Given the description of an element on the screen output the (x, y) to click on. 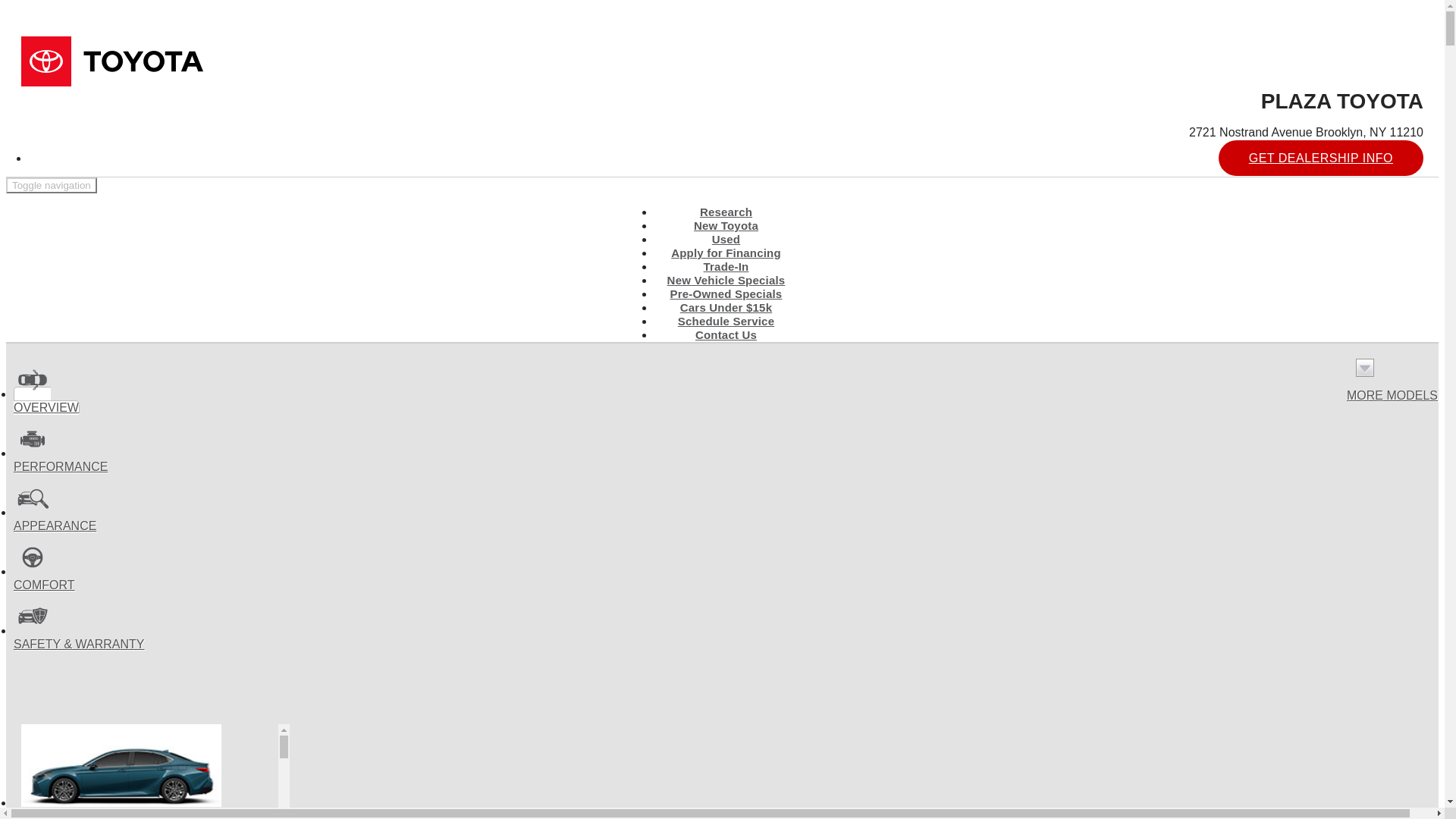
OVERVIEW (46, 400)
Schedule Service (726, 321)
Apply for Financing (725, 252)
Pre-Owned Specials (726, 293)
New Toyota (726, 225)
Research (726, 211)
MORE MODELS (145, 771)
PERFORMANCE (1391, 375)
COMFORT (60, 459)
GET DEALERSHIP INFO (44, 578)
New Vehicle Specials (1320, 158)
Used (726, 280)
Toggle navigation (725, 239)
APPEARANCE (51, 185)
